Given the description of an element on the screen output the (x, y) to click on. 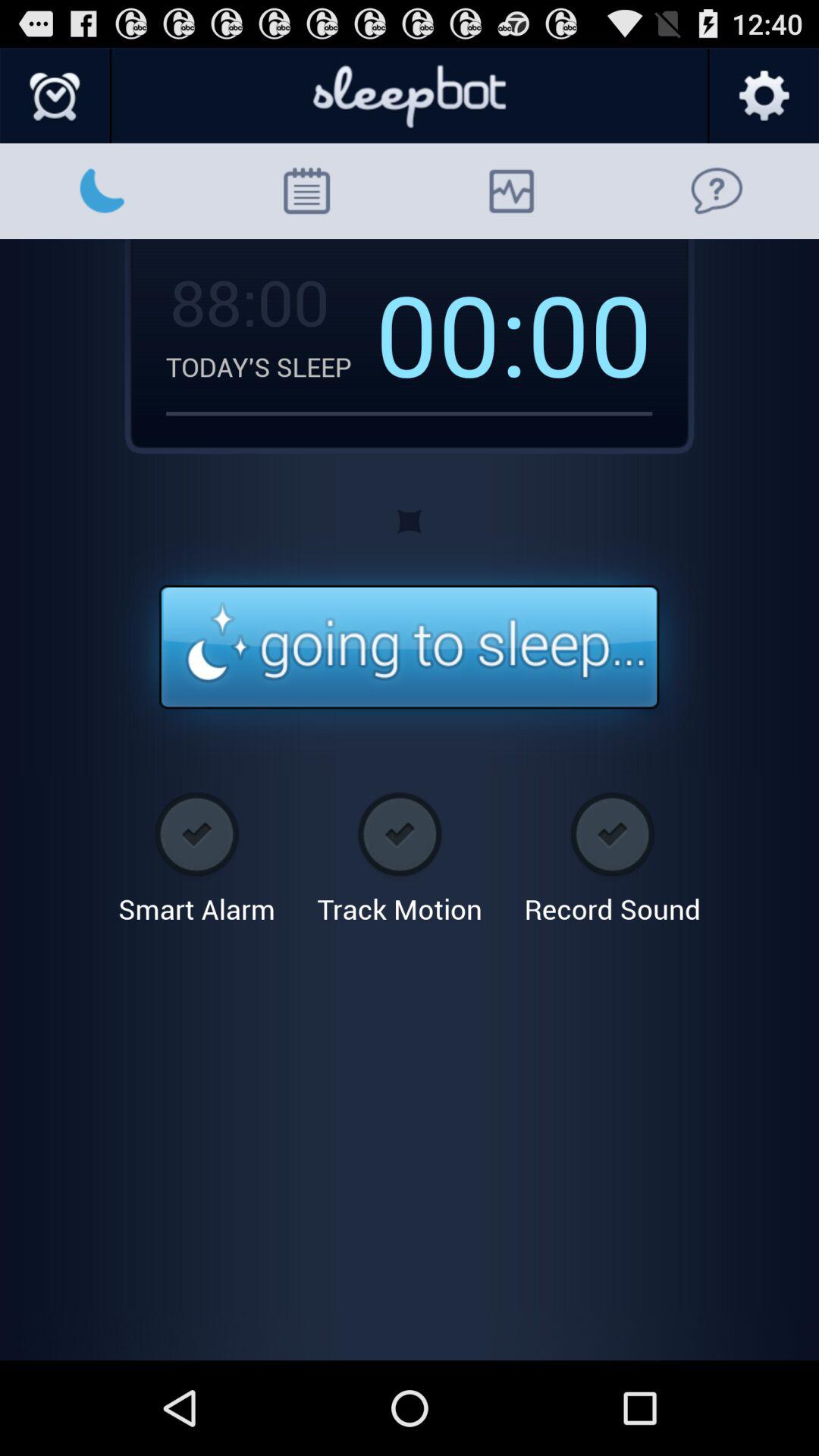
set alarm options (55, 96)
